Given the description of an element on the screen output the (x, y) to click on. 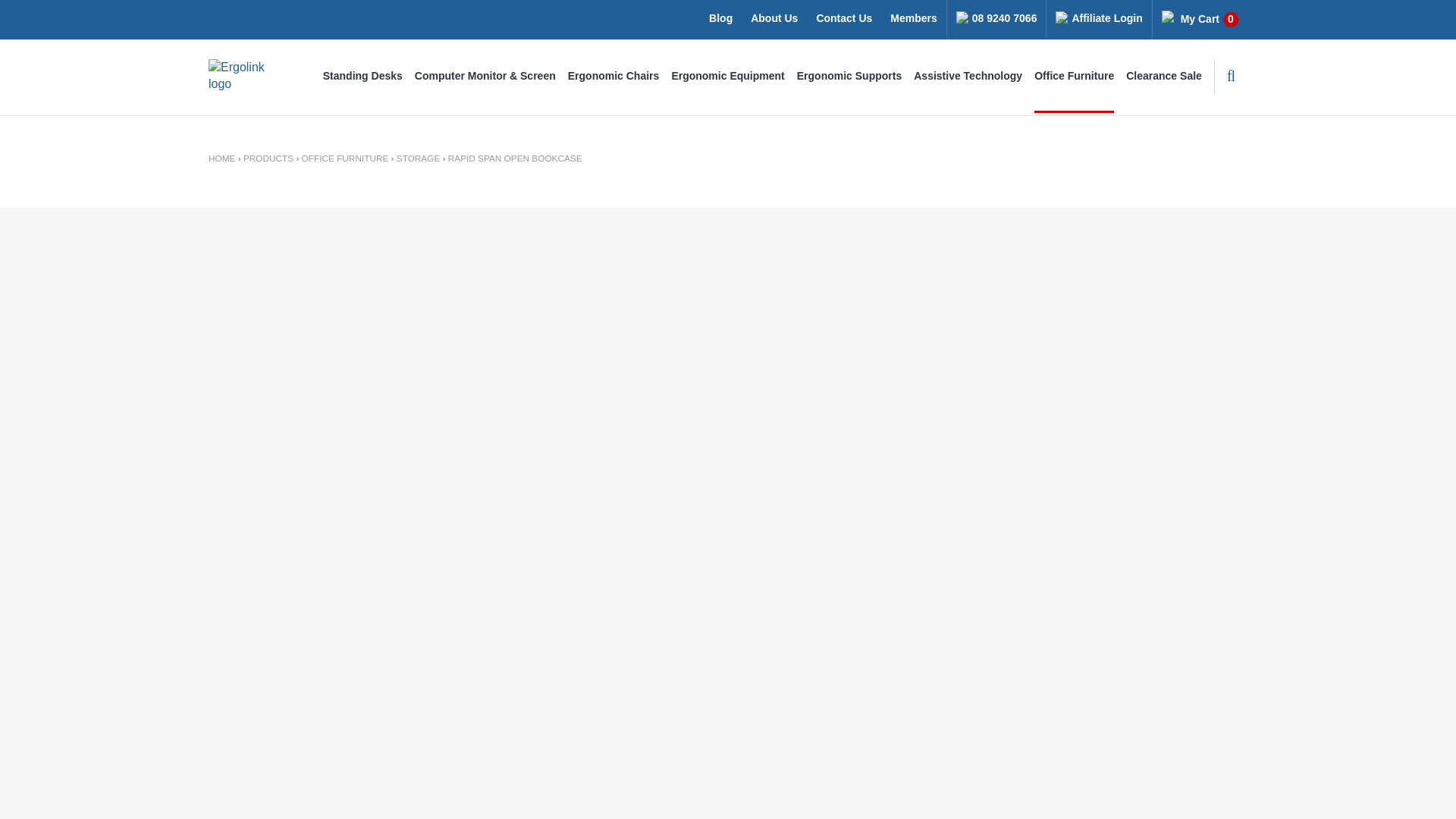
08 9240 7066 (996, 18)
Affiliate Login (1098, 18)
Standing Desks (363, 75)
Members (1200, 19)
Ergonomic Chairs (912, 18)
Ergonomic Equipment (613, 75)
Blog (727, 75)
Contact Us (720, 18)
About Us (843, 18)
